Given the description of an element on the screen output the (x, y) to click on. 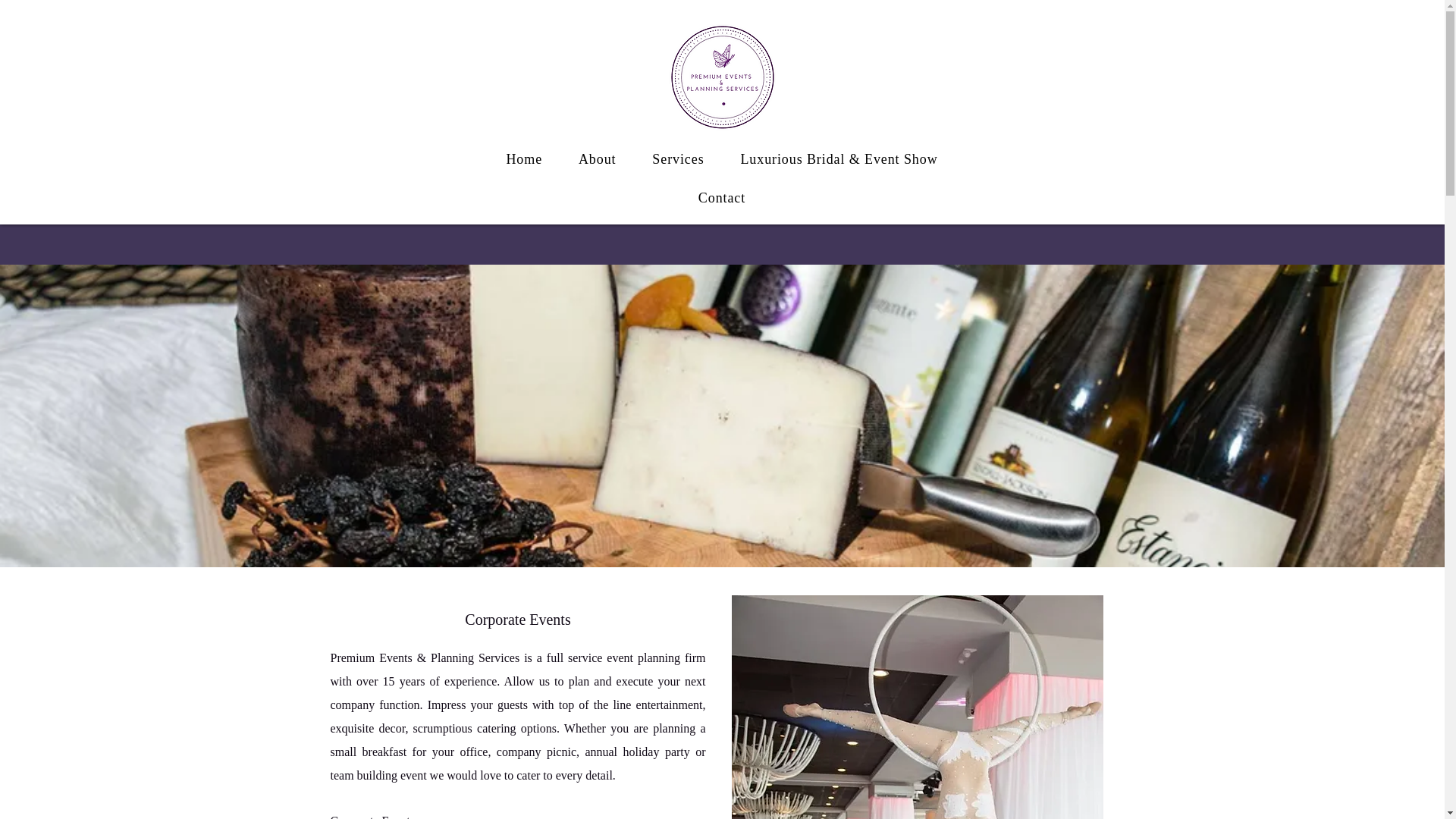
Home (524, 159)
Services (678, 159)
About (596, 159)
Contact (722, 197)
